Given the description of an element on the screen output the (x, y) to click on. 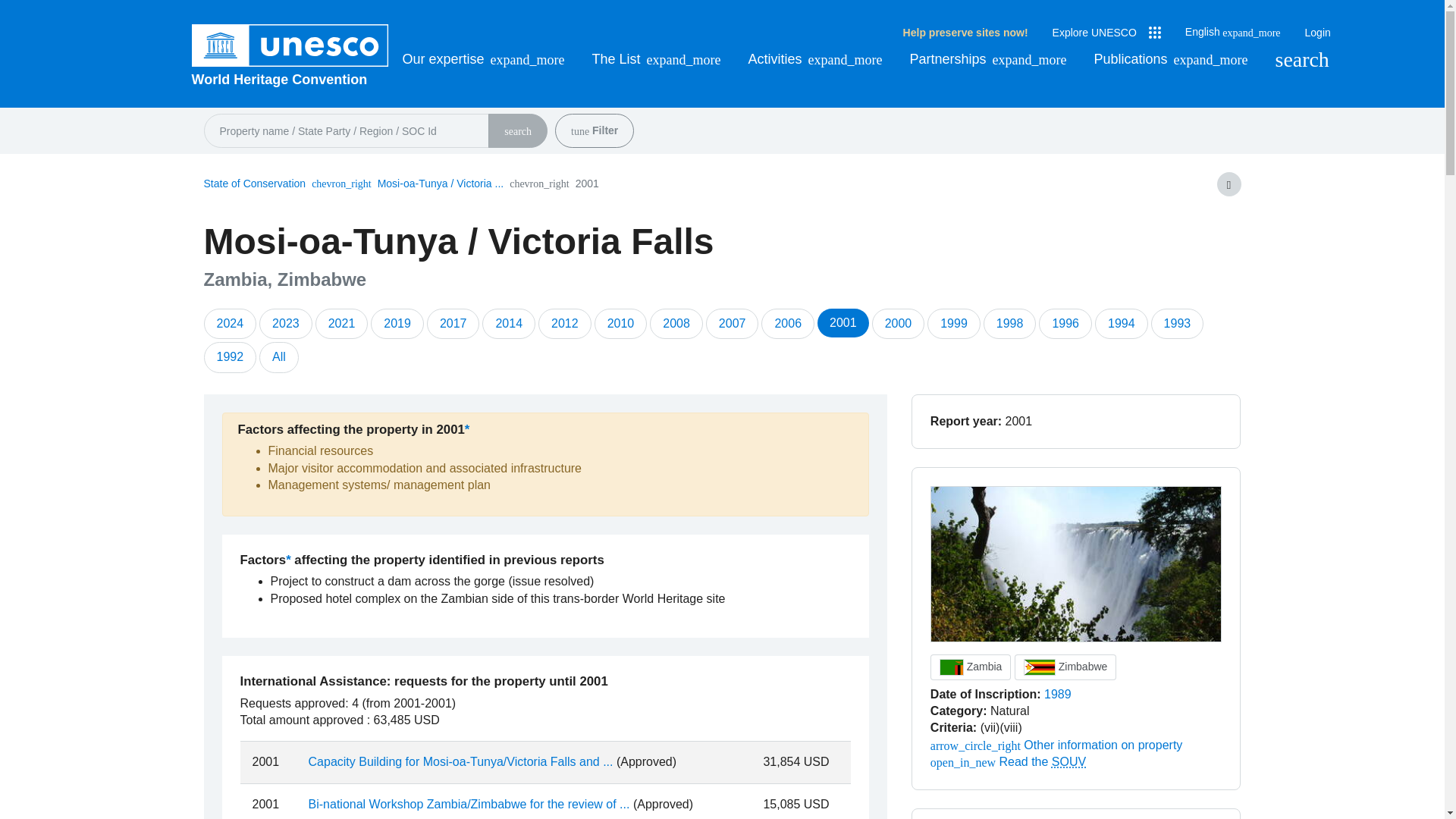
Explore UNESCO (1106, 32)
World Heritage Convention (289, 79)
English (1233, 32)
Filter your search (579, 131)
Our expertise (482, 58)
Search (1302, 59)
Consult this request (469, 803)
Consult this request (460, 761)
Statement of Outstanding Universal Value (1068, 761)
Help preserve sites now! (964, 32)
